Given the description of an element on the screen output the (x, y) to click on. 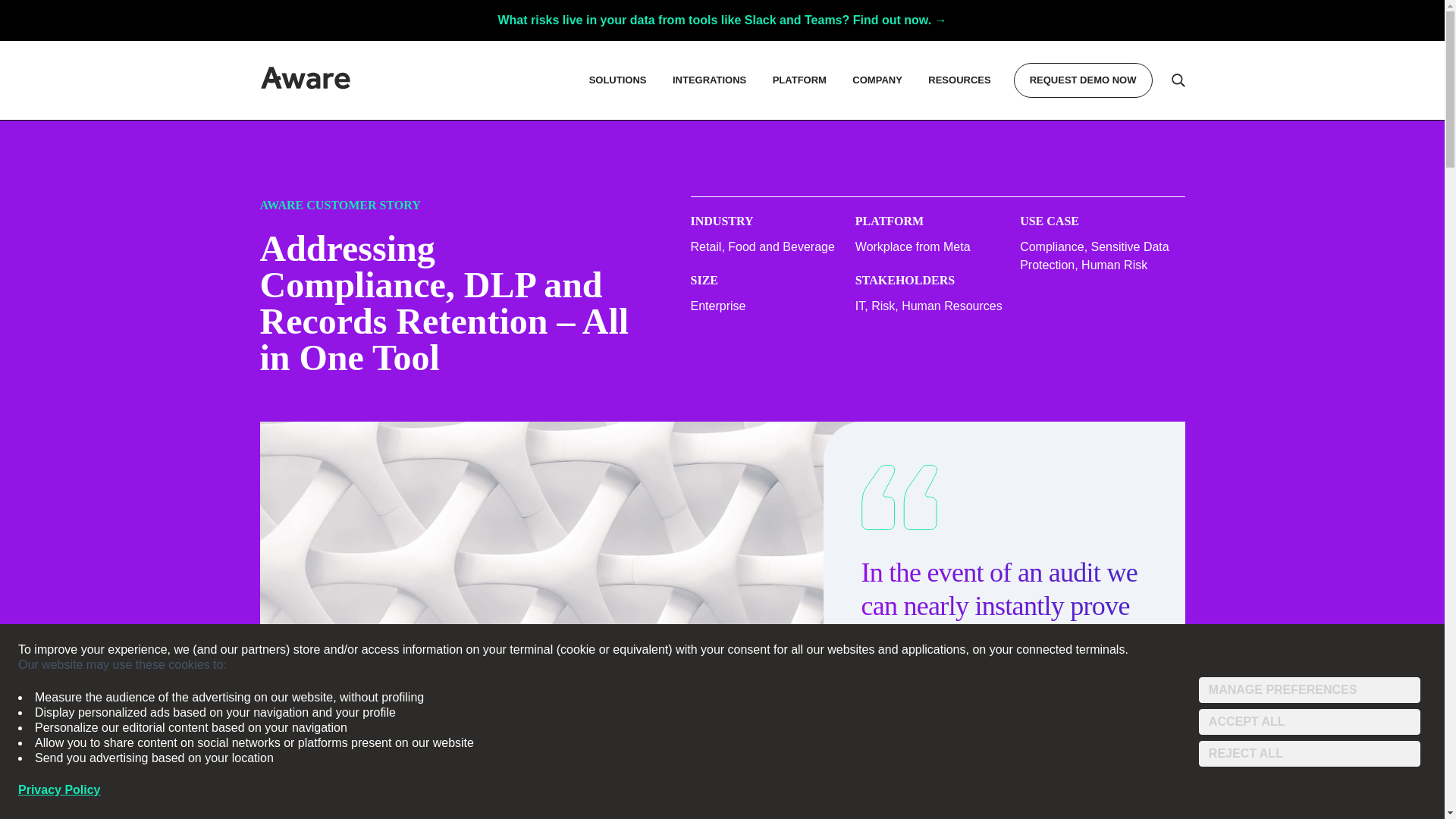
ACCEPT ALL (1309, 721)
Privacy Policy (58, 789)
PLATFORM (799, 79)
SOLUTIONS (618, 79)
Aware Logo (304, 77)
MANAGE PREFERENCES (1309, 689)
REJECT ALL (1309, 753)
INTEGRATIONS (709, 79)
